Given the description of an element on the screen output the (x, y) to click on. 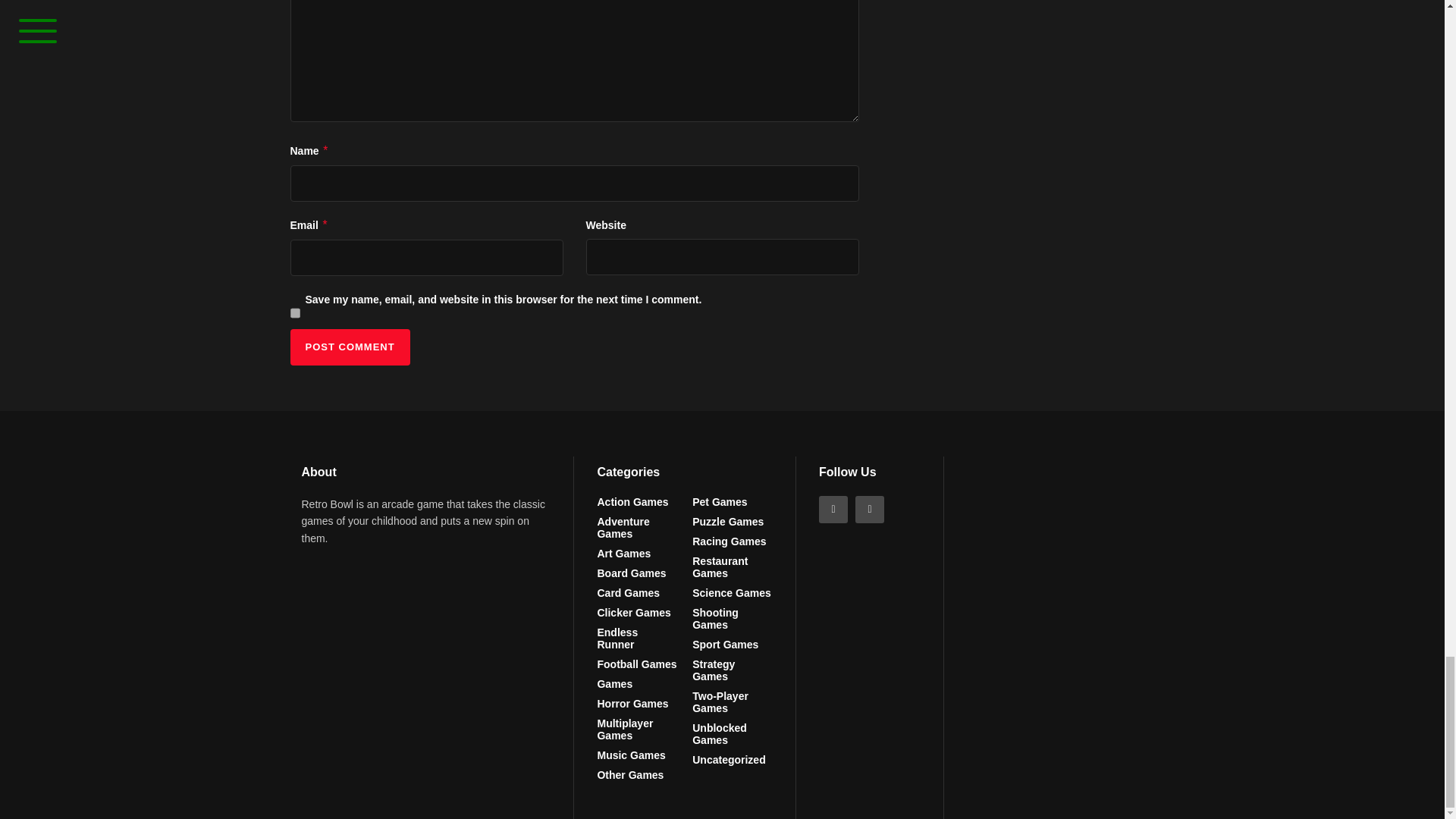
yes (294, 312)
Post Comment (349, 347)
